Given the description of an element on the screen output the (x, y) to click on. 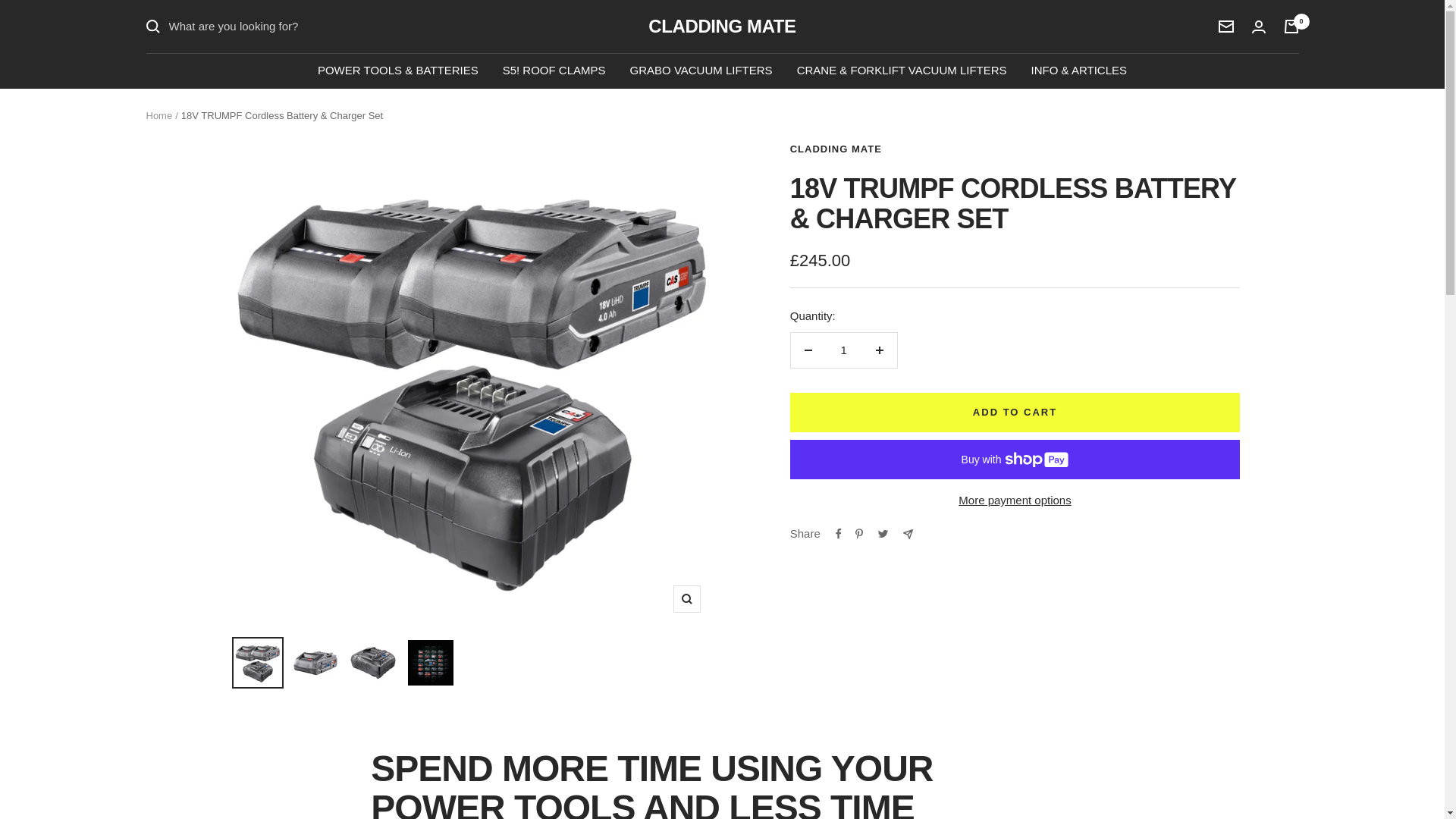
1 (843, 349)
Decrease quantity (807, 349)
0 (1290, 26)
Increase quantity (878, 349)
ADD TO CART (1015, 412)
Newsletter (1225, 26)
GRABO VACUUM LIFTERS (701, 70)
Zoom (686, 598)
Home (158, 115)
CLADDING MATE (836, 148)
S5! ROOF CLAMPS (553, 70)
More payment options (1015, 500)
CLADDING MATE (720, 25)
